Given the description of an element on the screen output the (x, y) to click on. 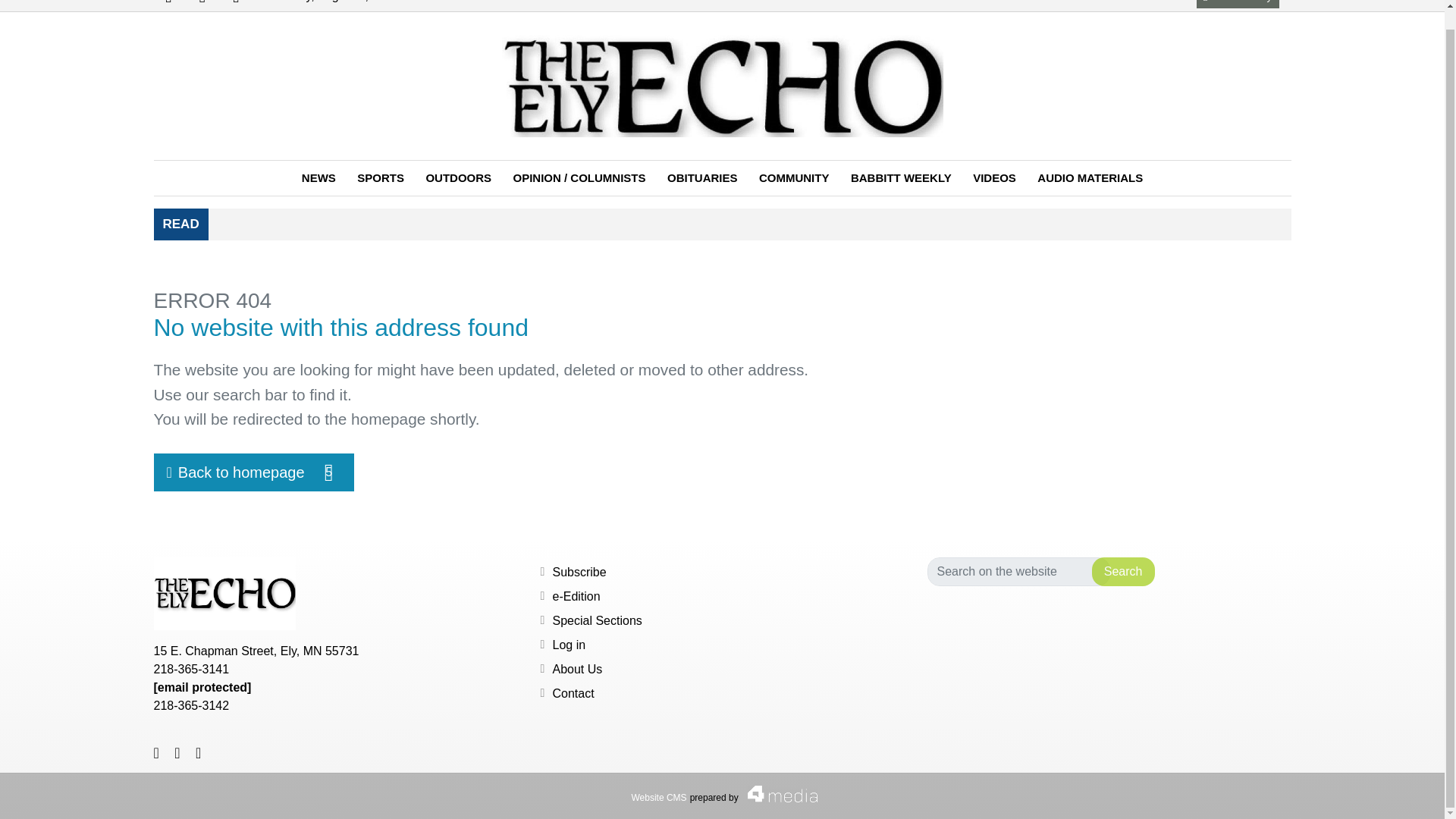
Go to Facebook.com (167, 5)
SPORTS (380, 178)
Subscribe (578, 571)
Go to X.com (201, 5)
Special Sections (596, 620)
Go to Youtube.com (235, 5)
AUDIO MATERIALS (1089, 178)
About Us (576, 668)
NEWS (252, 472)
Youtube.com (318, 178)
www.4media.com (235, 5)
X.com (657, 797)
OUTDOORS (201, 5)
Search (458, 178)
